Given the description of an element on the screen output the (x, y) to click on. 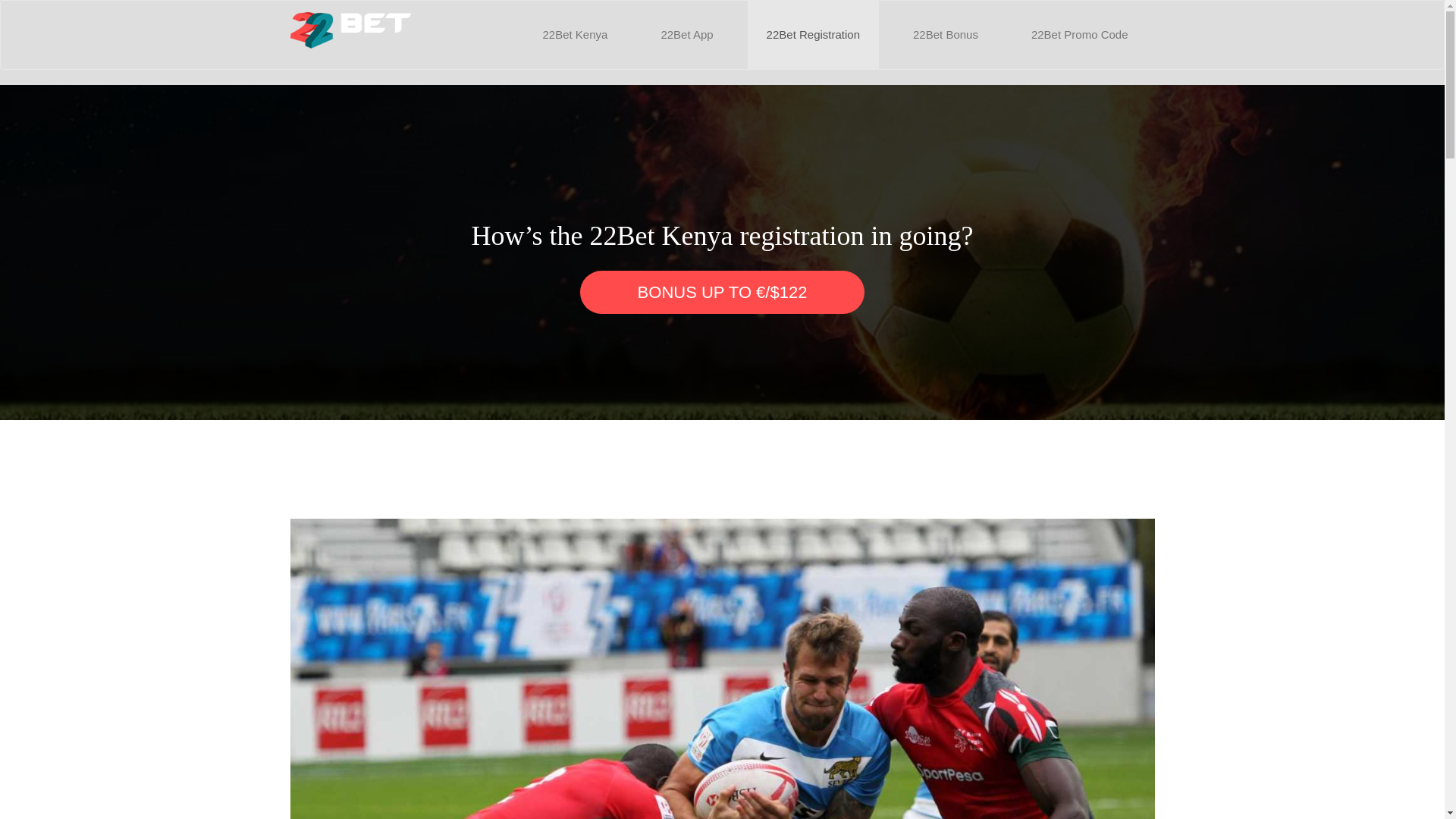
22Bet Promo Code Element type: text (1079, 34)
22Bet Registration Element type: text (812, 34)
22Bet Kenya Element type: text (574, 34)
22Bet App Element type: text (686, 34)
22Bet Bonus Element type: text (945, 34)
